Given the description of an element on the screen output the (x, y) to click on. 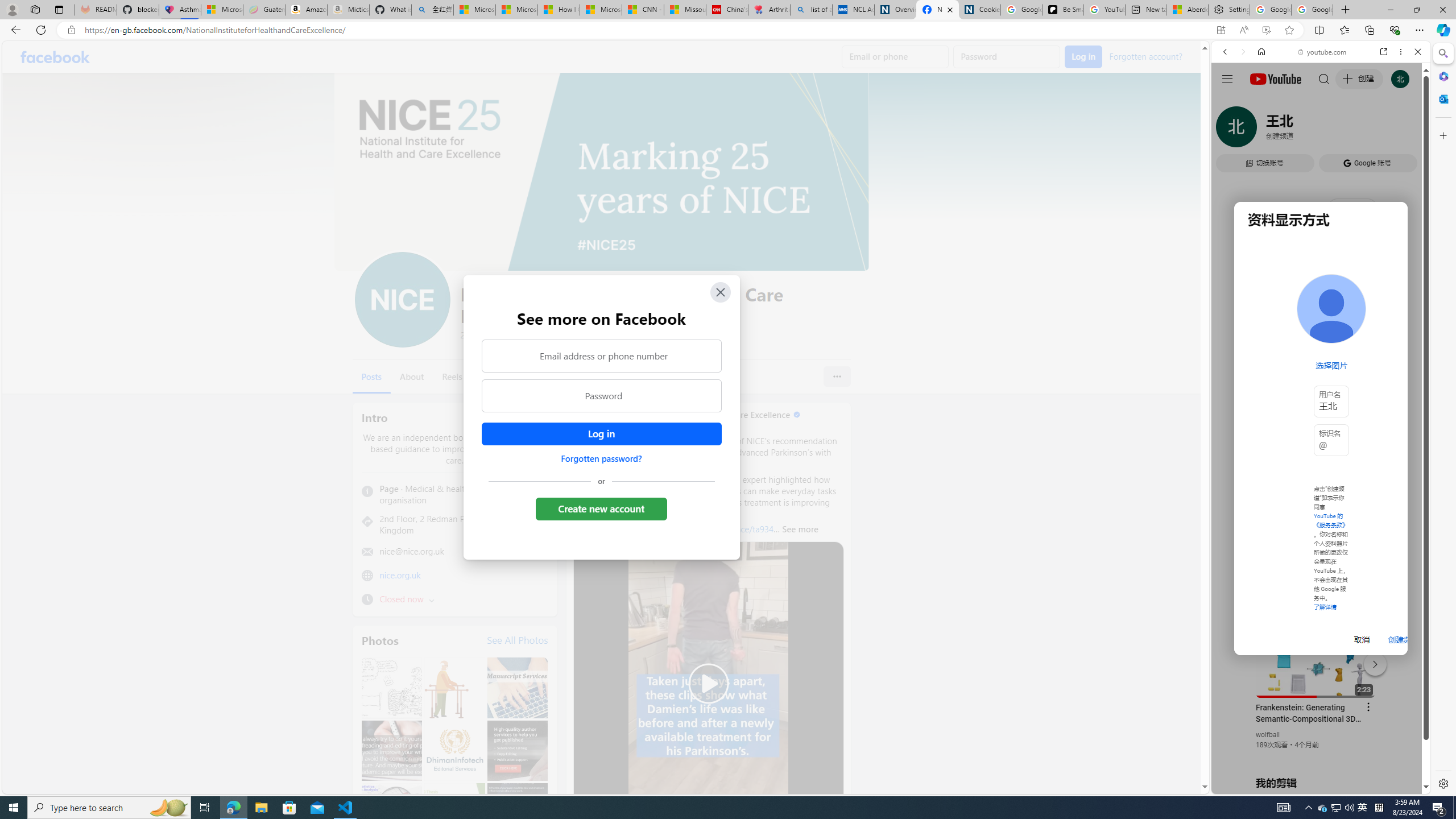
Email address or phone number (600, 355)
you (1315, 755)
US[ju] (1249, 785)
